Given the description of an element on the screen output the (x, y) to click on. 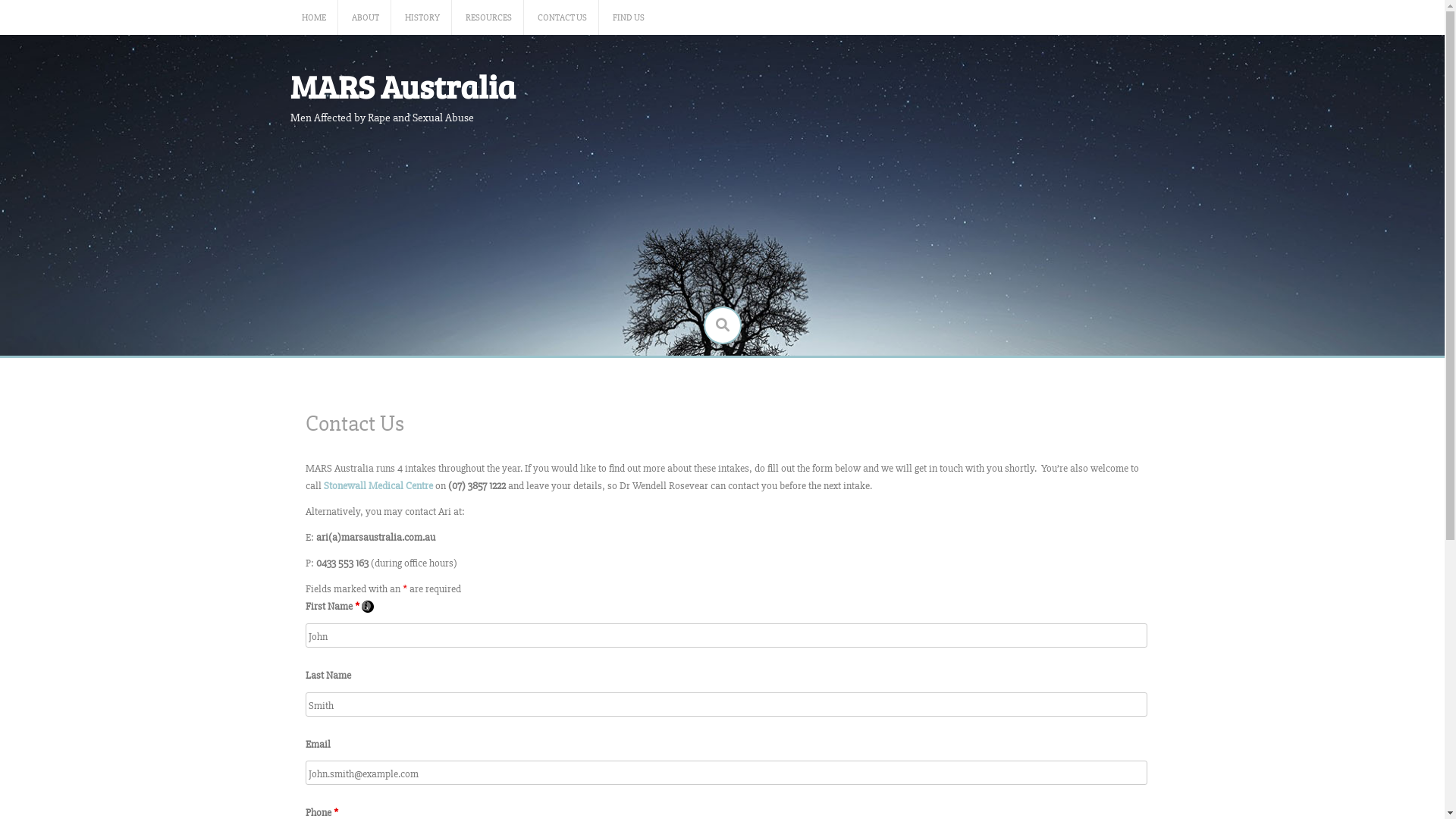
Stonewall Medical Centre Element type: text (378, 485)
ABOUT Element type: text (365, 17)
CONTACT US Element type: text (561, 17)
HISTORY Element type: text (421, 17)
HOME Element type: text (313, 17)
RESOURCES Element type: text (488, 17)
FIND US Element type: text (628, 17)
MARS Australia Element type: text (401, 85)
